Given the description of an element on the screen output the (x, y) to click on. 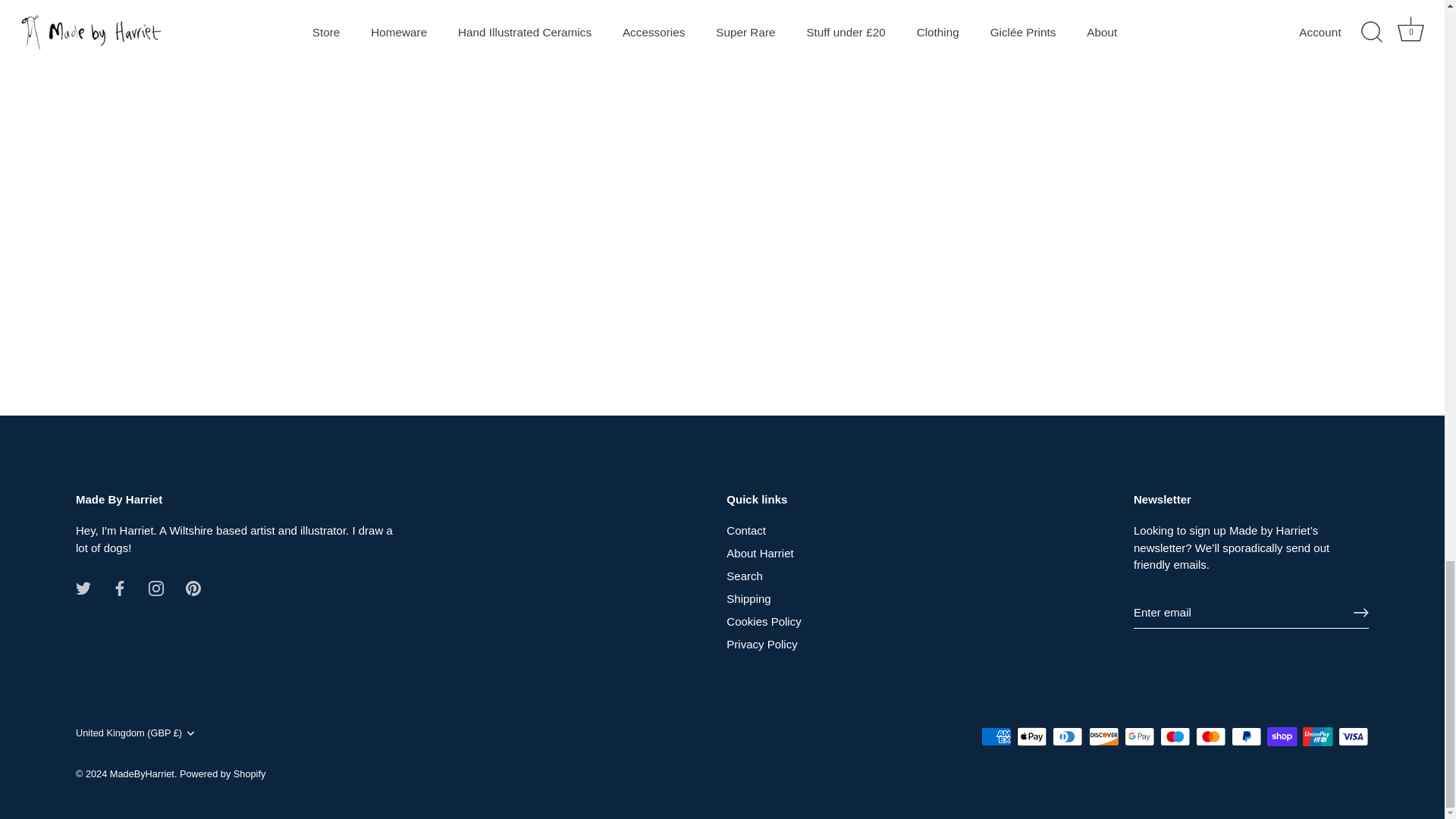
Shop Pay (1281, 736)
Diners Club (1067, 736)
Apple Pay (1031, 736)
Discover (1104, 736)
American Express (996, 736)
Maestro (1174, 736)
Pinterest (193, 588)
Instagram (155, 588)
Twitter (82, 588)
Union Pay (1317, 736)
RIGHT ARROW LONG (1361, 612)
Visa (1353, 736)
PayPal (1245, 736)
Mastercard (1210, 736)
Google Pay (1139, 736)
